Given the description of an element on the screen output the (x, y) to click on. 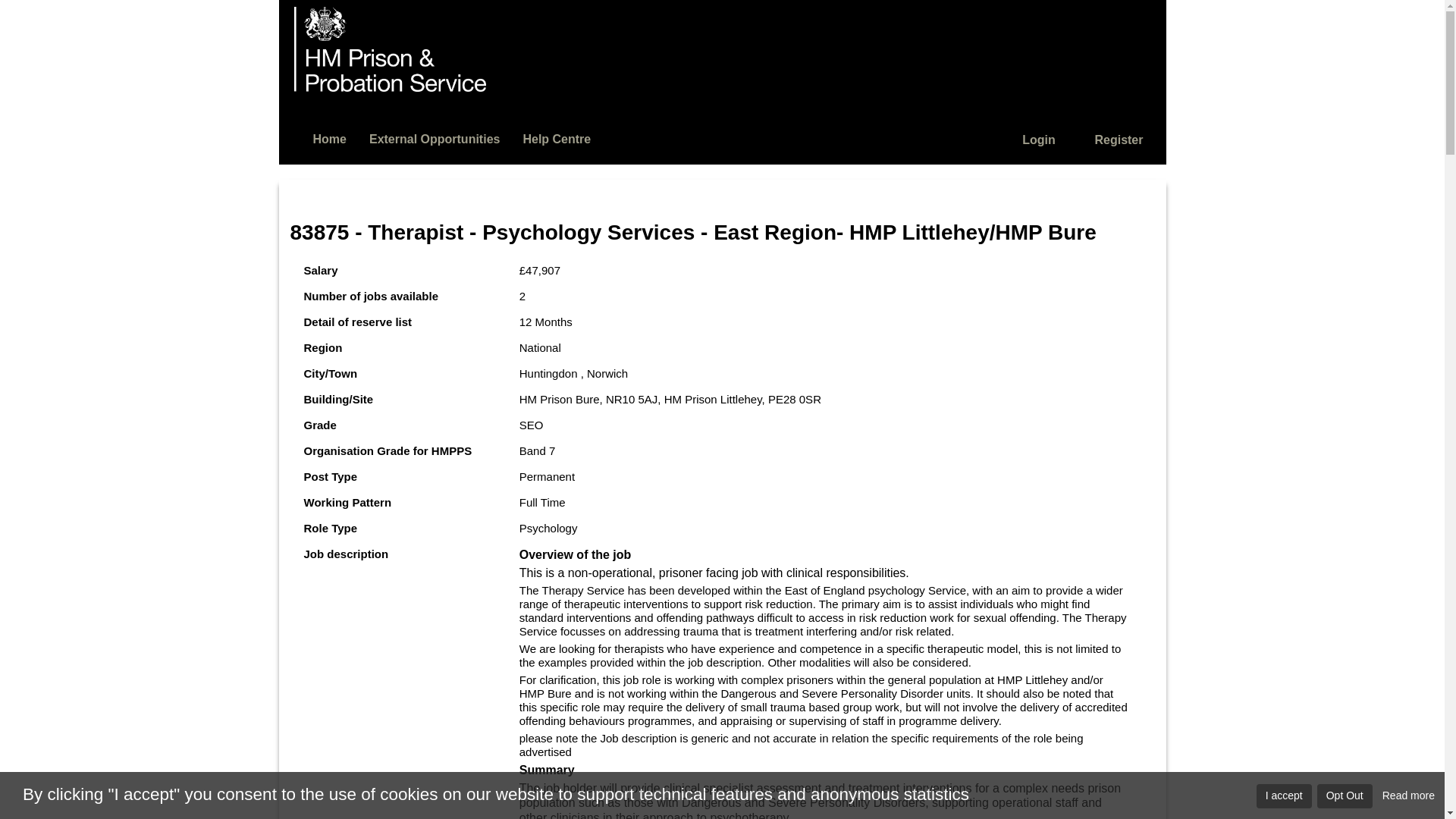
Help Centre (556, 137)
Home (329, 137)
Opt Out (1345, 795)
Login (1038, 138)
Register (1118, 138)
I accept (1283, 795)
External Opportunities (434, 137)
